Given the description of an element on the screen output the (x, y) to click on. 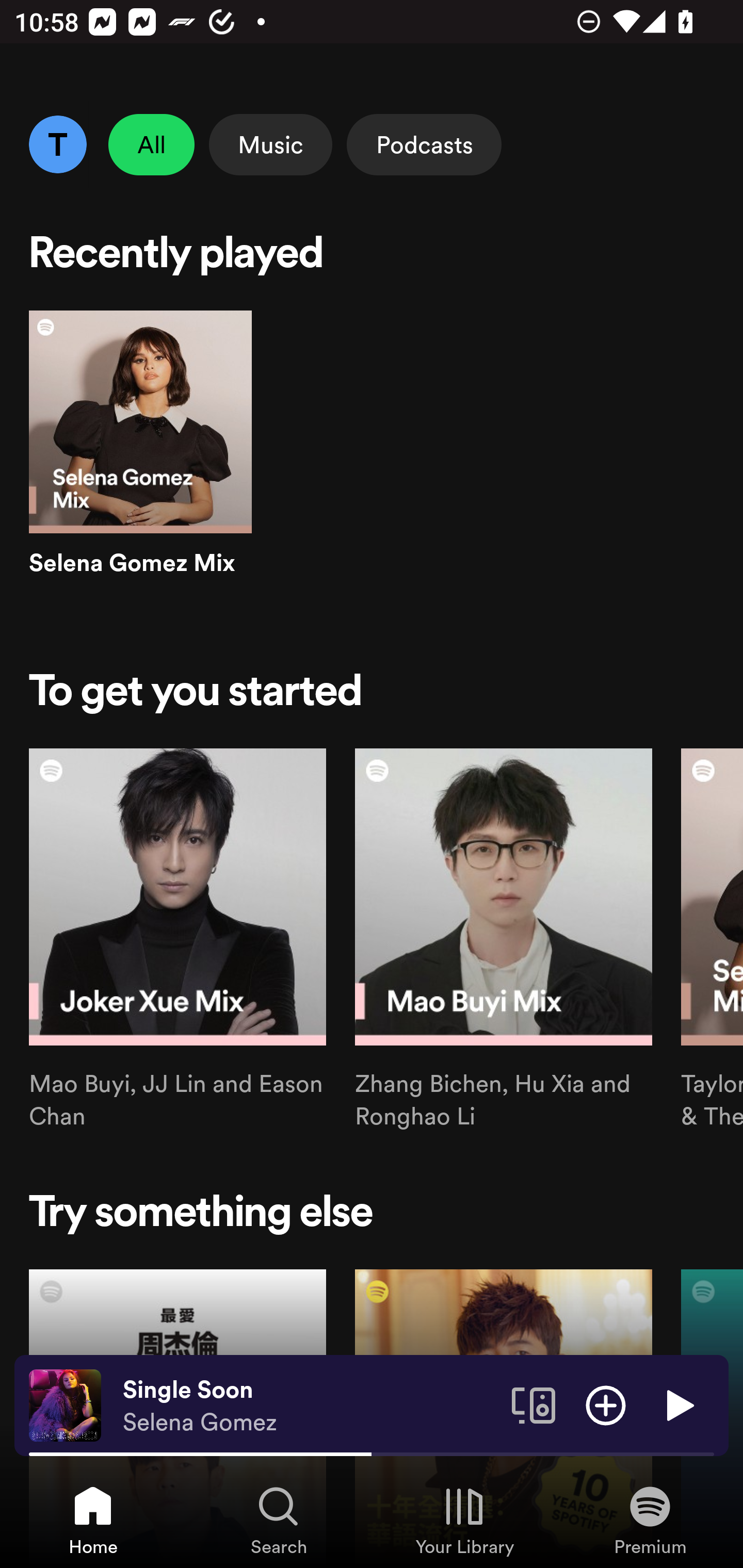
Profile (57, 144)
All Unselect All (151, 144)
Music Select Music (270, 144)
Podcasts Select Podcasts (423, 144)
Selena Gomez Mix (139, 460)
Single Soon Selena Gomez (309, 1405)
The cover art of the currently playing track (64, 1404)
Connect to a device. Opens the devices menu (533, 1404)
Add item (605, 1404)
Play (677, 1404)
Home, Tab 1 of 4 Home Home (92, 1519)
Search, Tab 2 of 4 Search Search (278, 1519)
Your Library, Tab 3 of 4 Your Library Your Library (464, 1519)
Premium, Tab 4 of 4 Premium Premium (650, 1519)
